Given the description of an element on the screen output the (x, y) to click on. 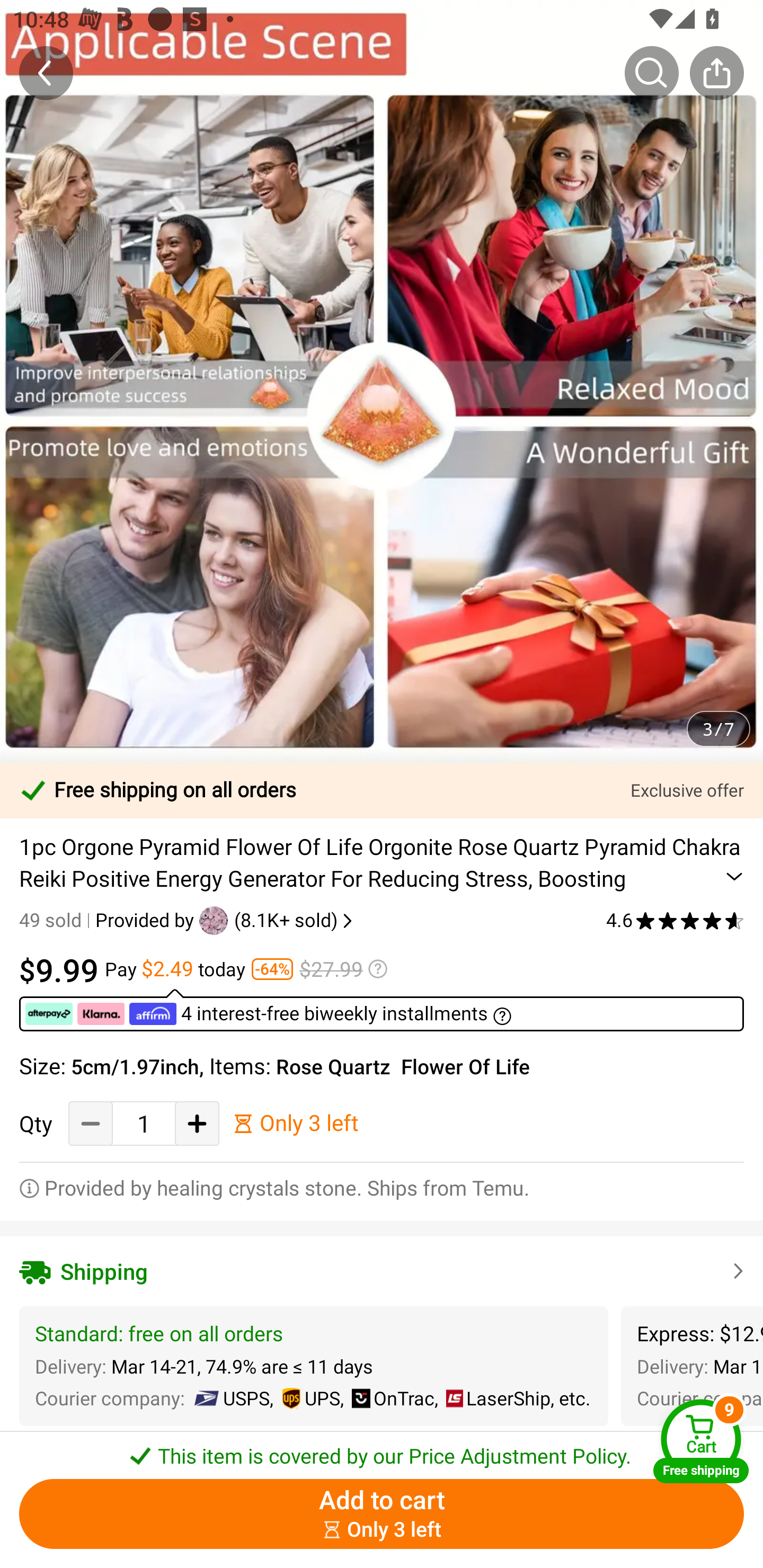
Back (46, 72)
Share (716, 72)
Free shipping on all orders Exclusive offer (381, 790)
4.6 (674, 920)
￼ ￼ ￼ 4 interest-free biweekly installments ￼ (381, 1009)
Decrease Quantity Button (90, 1123)
1 (143, 1123)
Add Quantity button (196, 1123)
Shipping (381, 1271)
Cart Free shipping Cart (701, 1440)
Add to cart ￼￼Only 3 left (381, 1513)
